Given the description of an element on the screen output the (x, y) to click on. 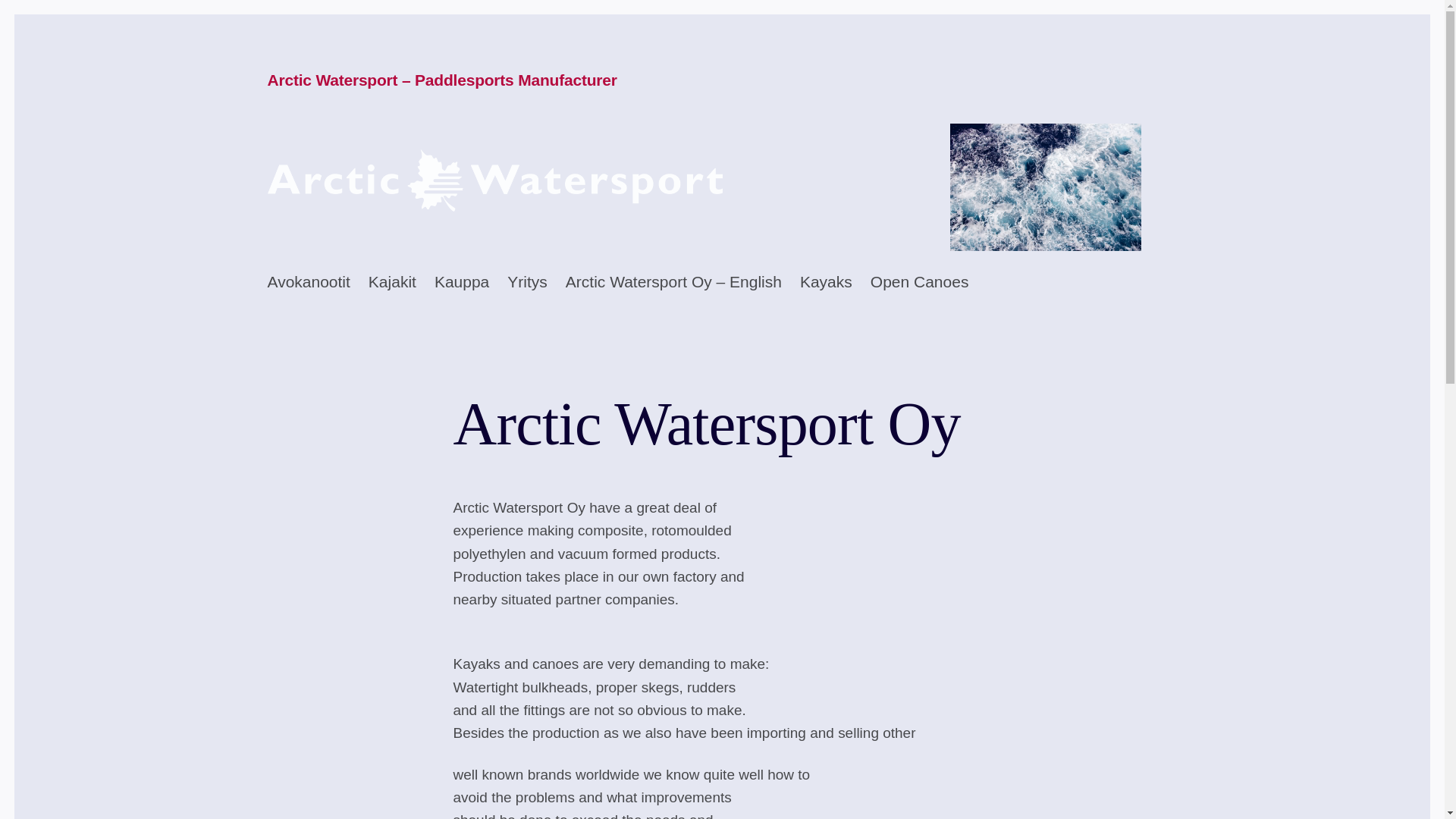
Kajakit (392, 282)
Yritys (526, 282)
Kayaks (825, 282)
Open Canoes (919, 282)
Kauppa (461, 282)
Avokanootit (307, 282)
